Given the description of an element on the screen output the (x, y) to click on. 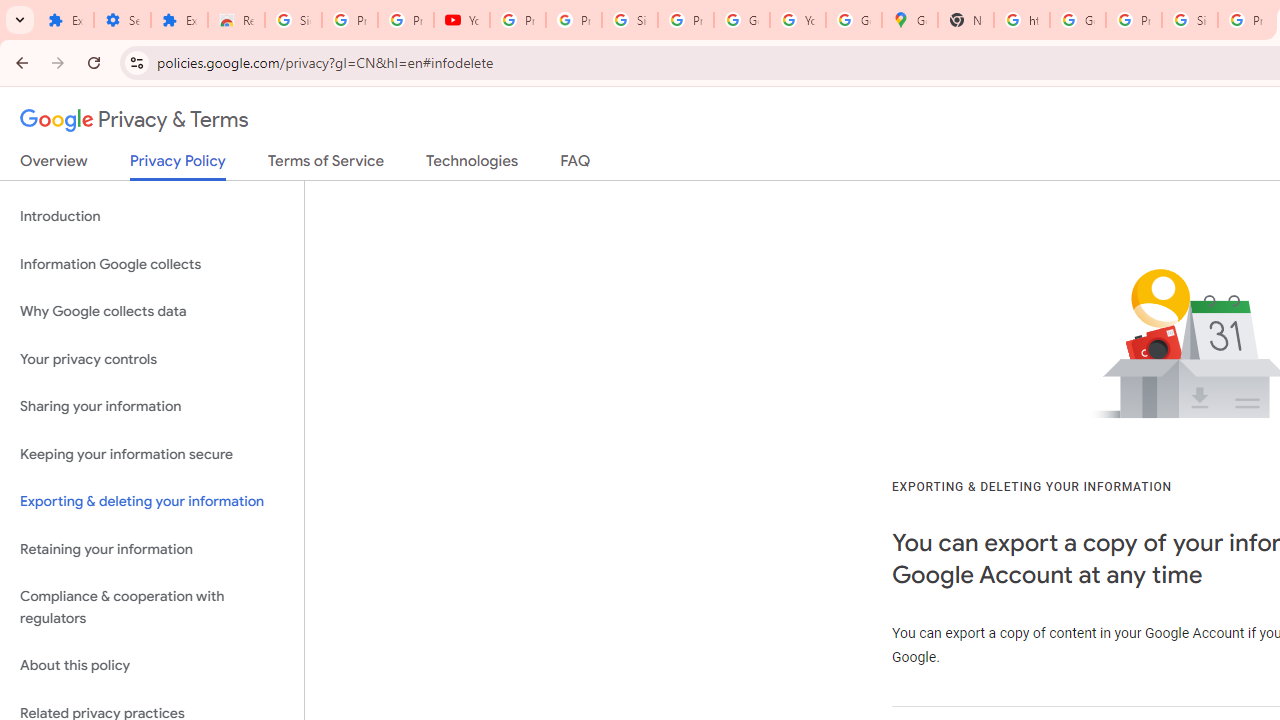
Why Google collects data (152, 312)
Google Account (742, 20)
Information Google collects (152, 263)
Sharing your information (152, 407)
Reviews: Helix Fruit Jump Arcade Game (235, 20)
Compliance & cooperation with regulators (152, 607)
About this policy (152, 666)
